Given the description of an element on the screen output the (x, y) to click on. 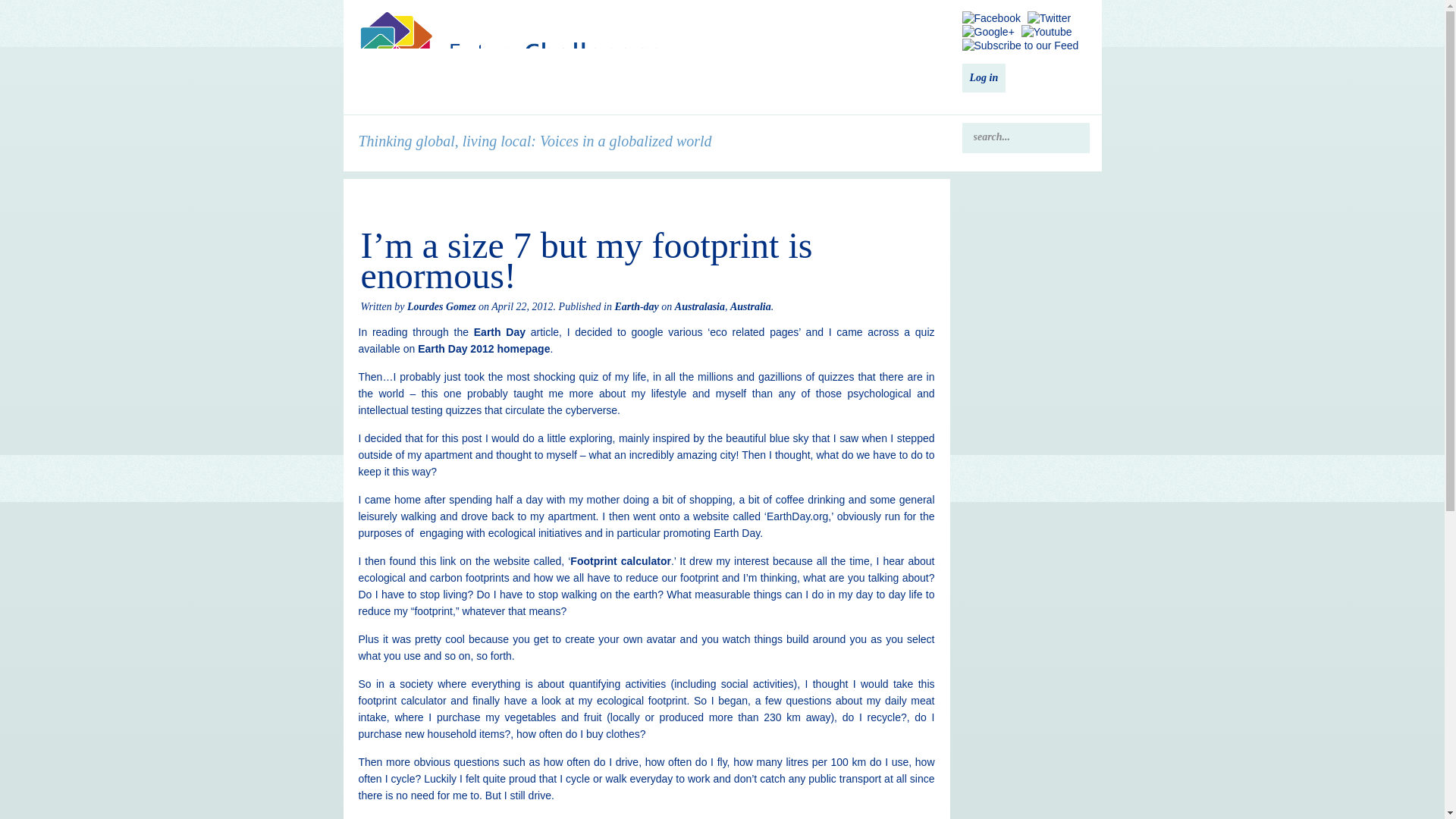
Log in (983, 77)
Footprint calculator (620, 561)
Youtube (1046, 31)
Earth-day (636, 306)
Australia (750, 306)
Lourdes Gomez (441, 306)
Read all posts in Earth-day (636, 306)
Earth Day (499, 331)
Reset (3, 2)
Earth Day 2012 homepage (483, 348)
